Given the description of an element on the screen output the (x, y) to click on. 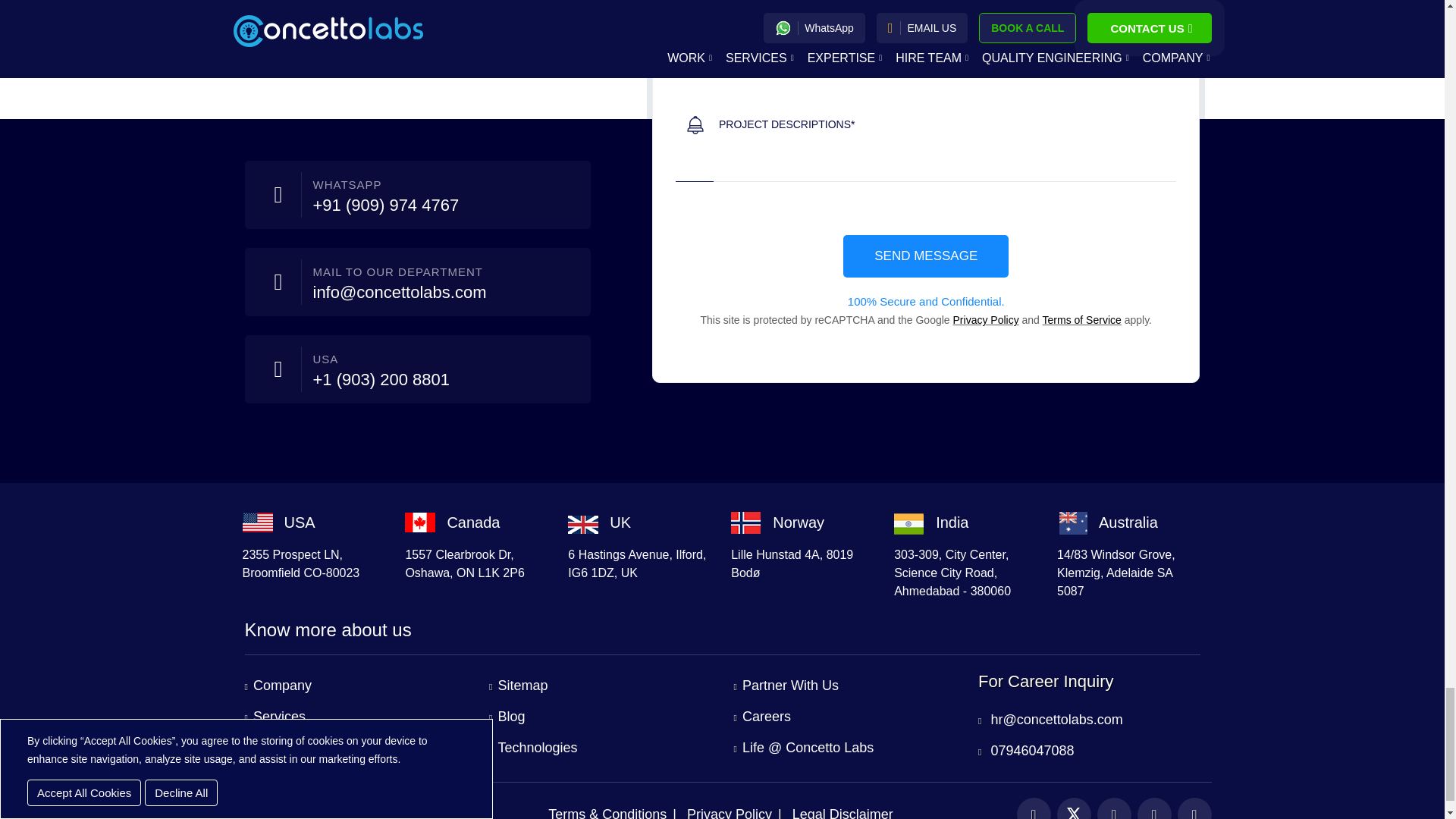
DMCA.com Protection Status (276, 808)
07946047088 (1026, 750)
Facebook (1032, 808)
